Given the description of an element on the screen output the (x, y) to click on. 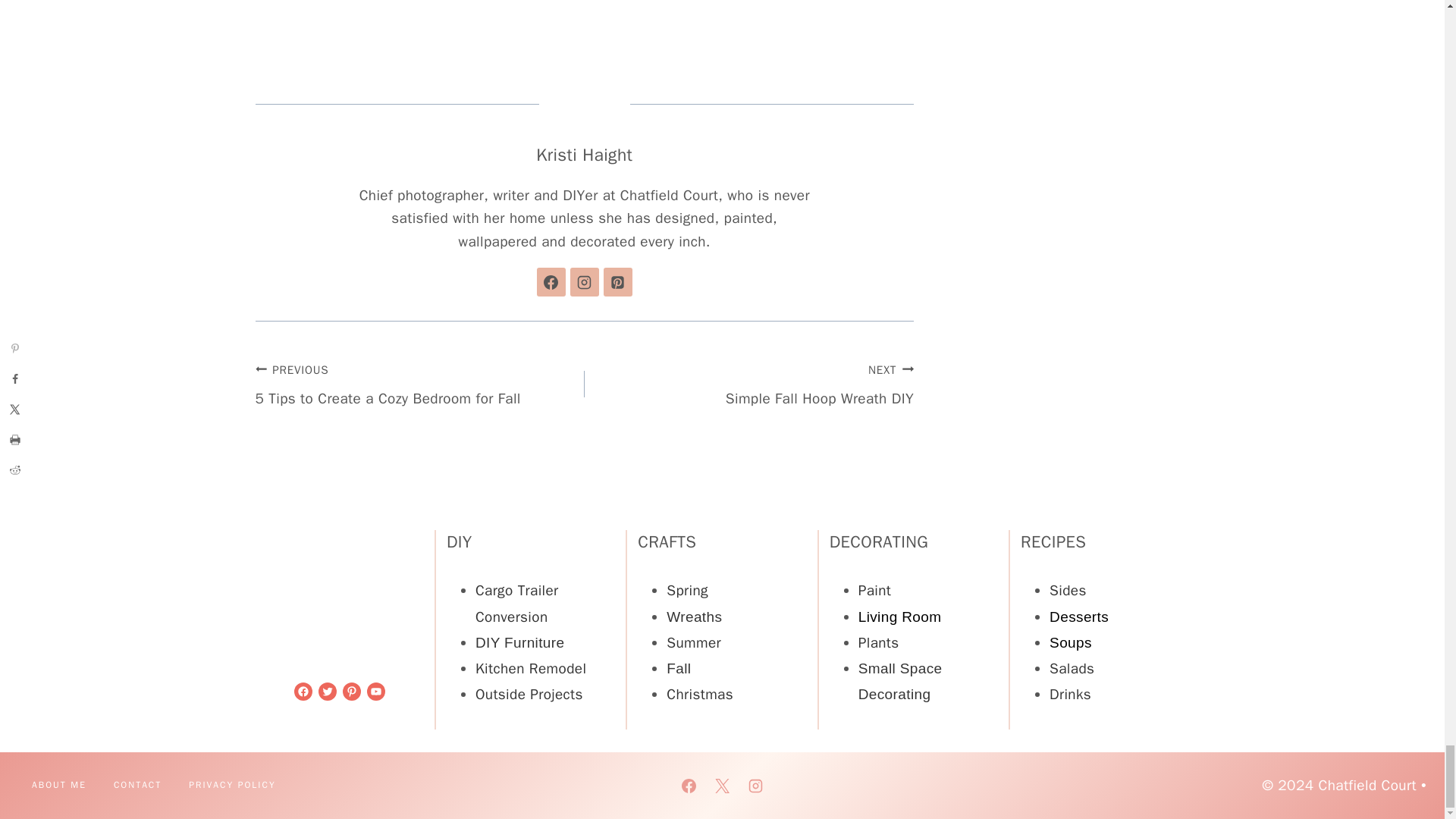
Follow Kristi Haight on Facebook (551, 281)
Follow Kristi Haight on Instagram (584, 281)
gallery wall with thrifted art (584, 15)
Follow Kristi Haight on Pinterest (617, 281)
Posts by Kristi Haight (583, 155)
